Given the description of an element on the screen output the (x, y) to click on. 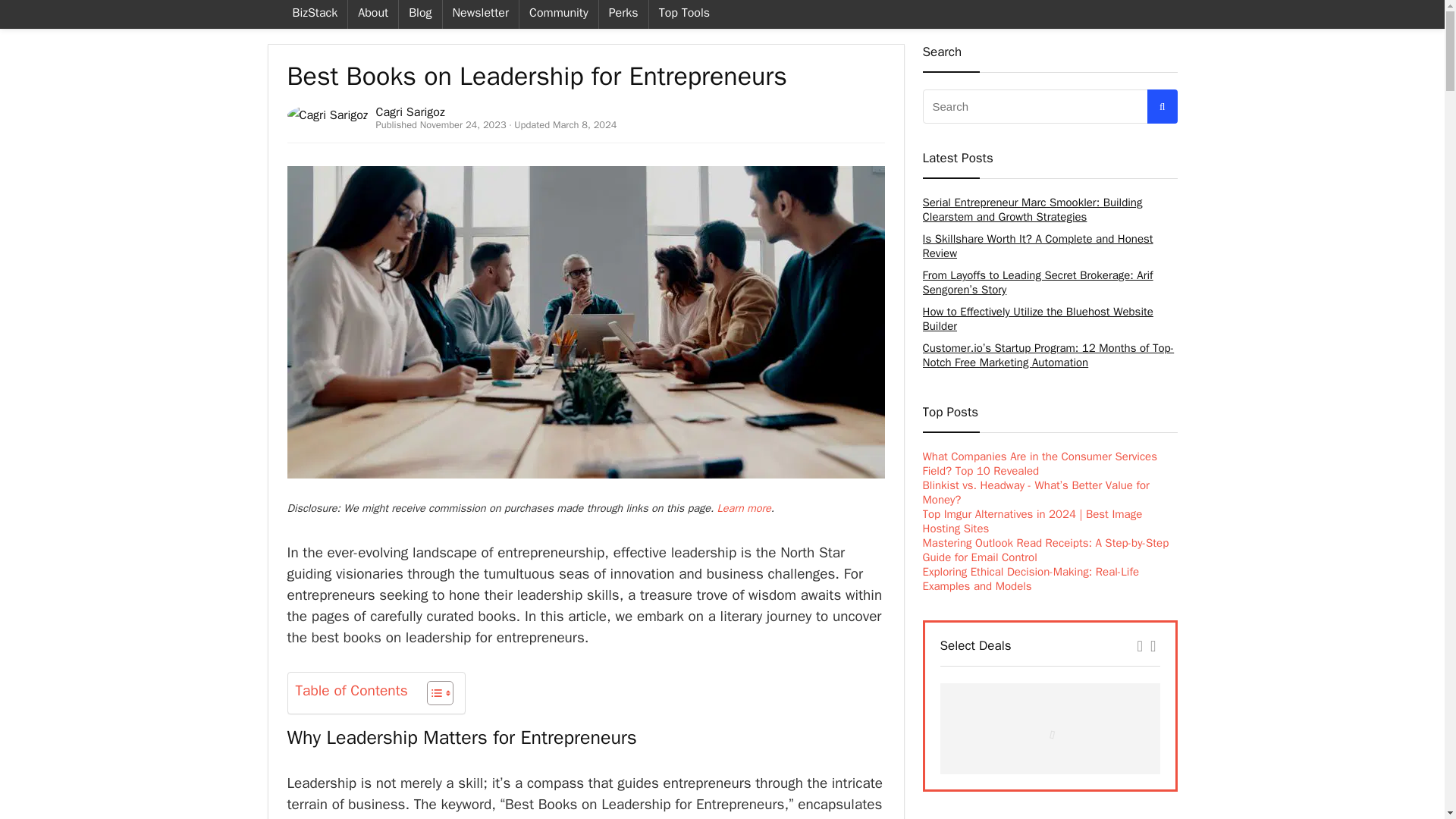
Cagri Sarigoz (410, 111)
Perks (622, 14)
About Us (372, 14)
Blog (419, 14)
Community (558, 14)
Newsletter (480, 14)
BizStack (314, 14)
About (372, 14)
Learn more (744, 508)
Top Tools (684, 14)
